Given the description of an element on the screen output the (x, y) to click on. 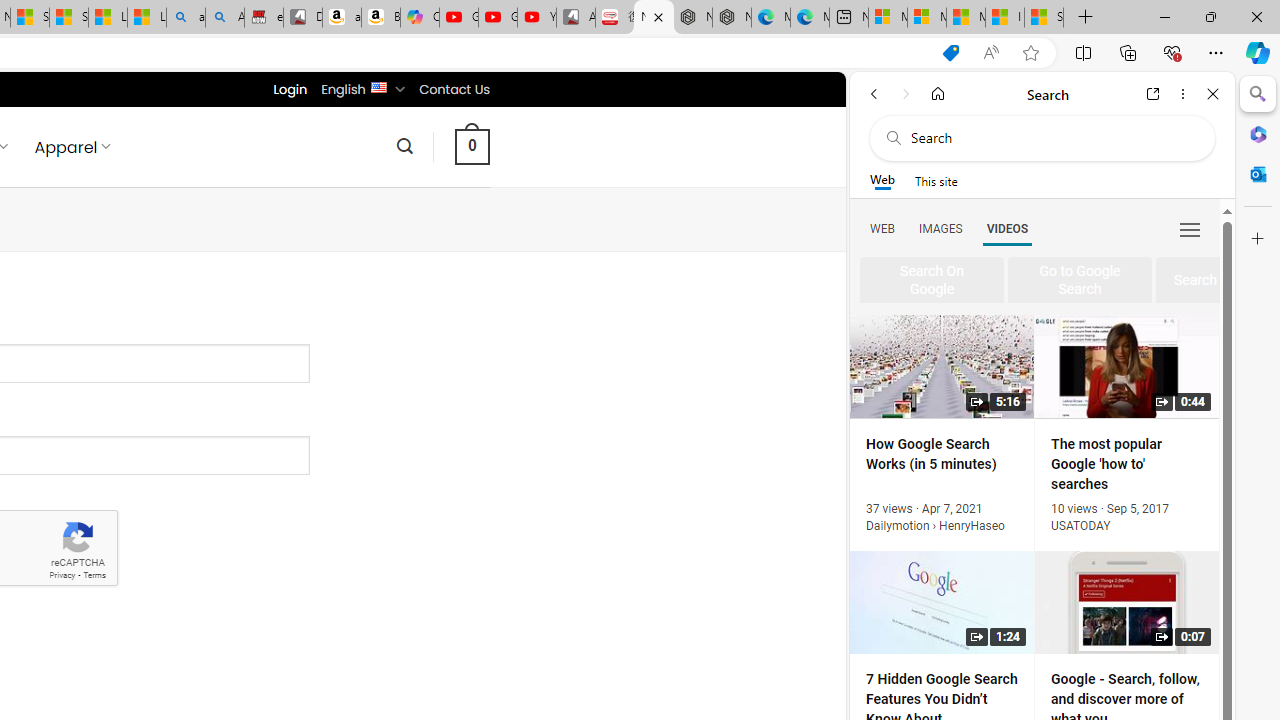
Outlook (1258, 174)
Terms (94, 575)
Search the web (1051, 137)
amazon - Search (185, 17)
Login (290, 89)
Gloom - YouTube (497, 17)
Login (290, 89)
All Cubot phones (575, 17)
Contact Us (454, 89)
YouTube Kids - An App Created for Kids to Explore Content (536, 17)
